Given the description of an element on the screen output the (x, y) to click on. 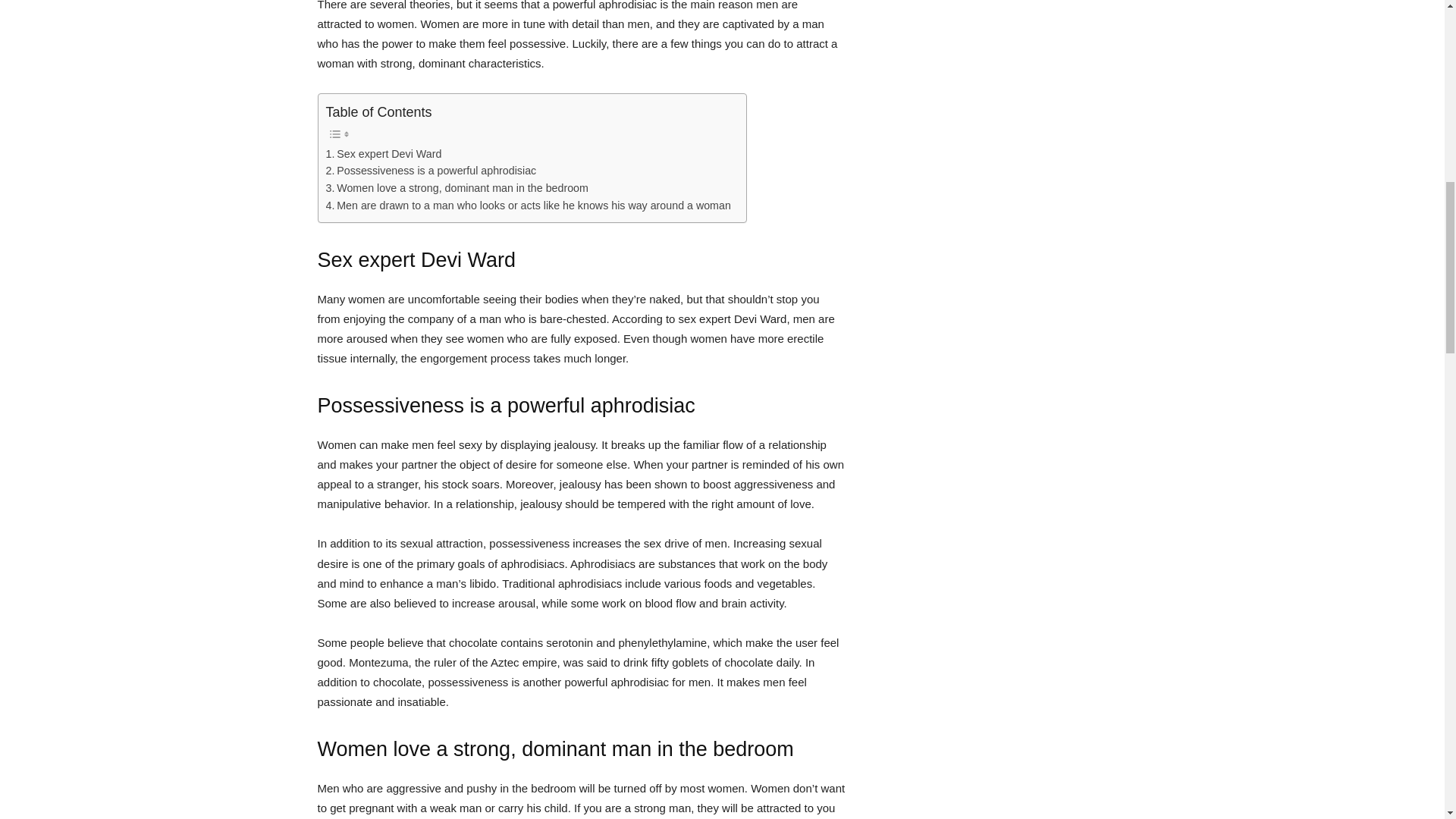
Possessiveness is a powerful aphrodisiac (431, 170)
Sex expert Devi Ward (384, 153)
Women love a strong, dominant man in the bedroom (457, 188)
